Given the description of an element on the screen output the (x, y) to click on. 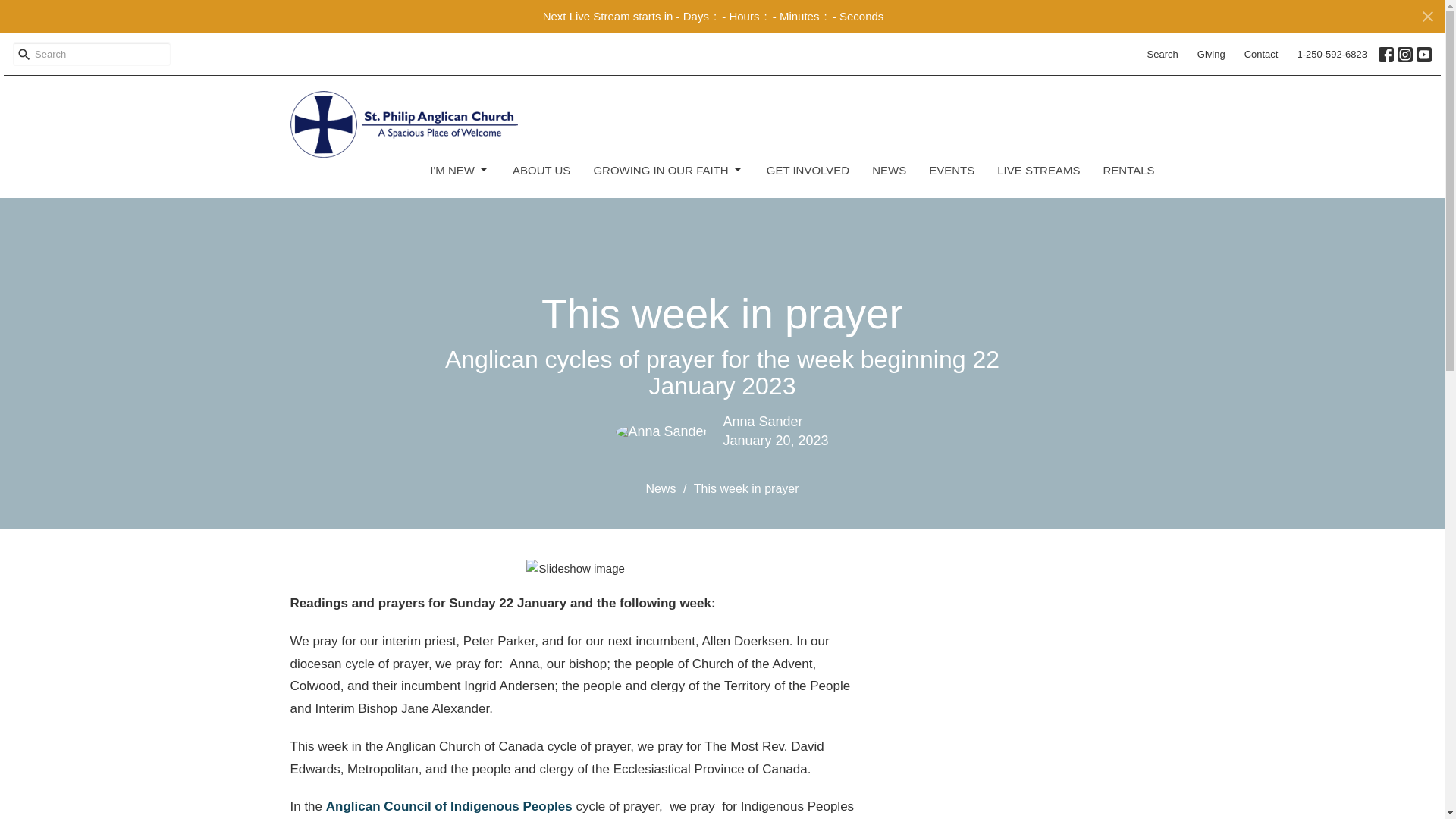
1-250-592-6823 (1331, 54)
EVENTS (951, 170)
GET INVOLVED (807, 170)
Giving (1211, 54)
ABOUT US (541, 170)
I'M NEW (459, 170)
Contact (1260, 54)
News (660, 488)
LIVE STREAMS (1038, 170)
NEWS (888, 170)
Anglican Council of Indigenous Peoples (449, 806)
Search (1163, 54)
RENTALS (1128, 170)
GROWING IN OUR FAITH (667, 170)
